Given the description of an element on the screen output the (x, y) to click on. 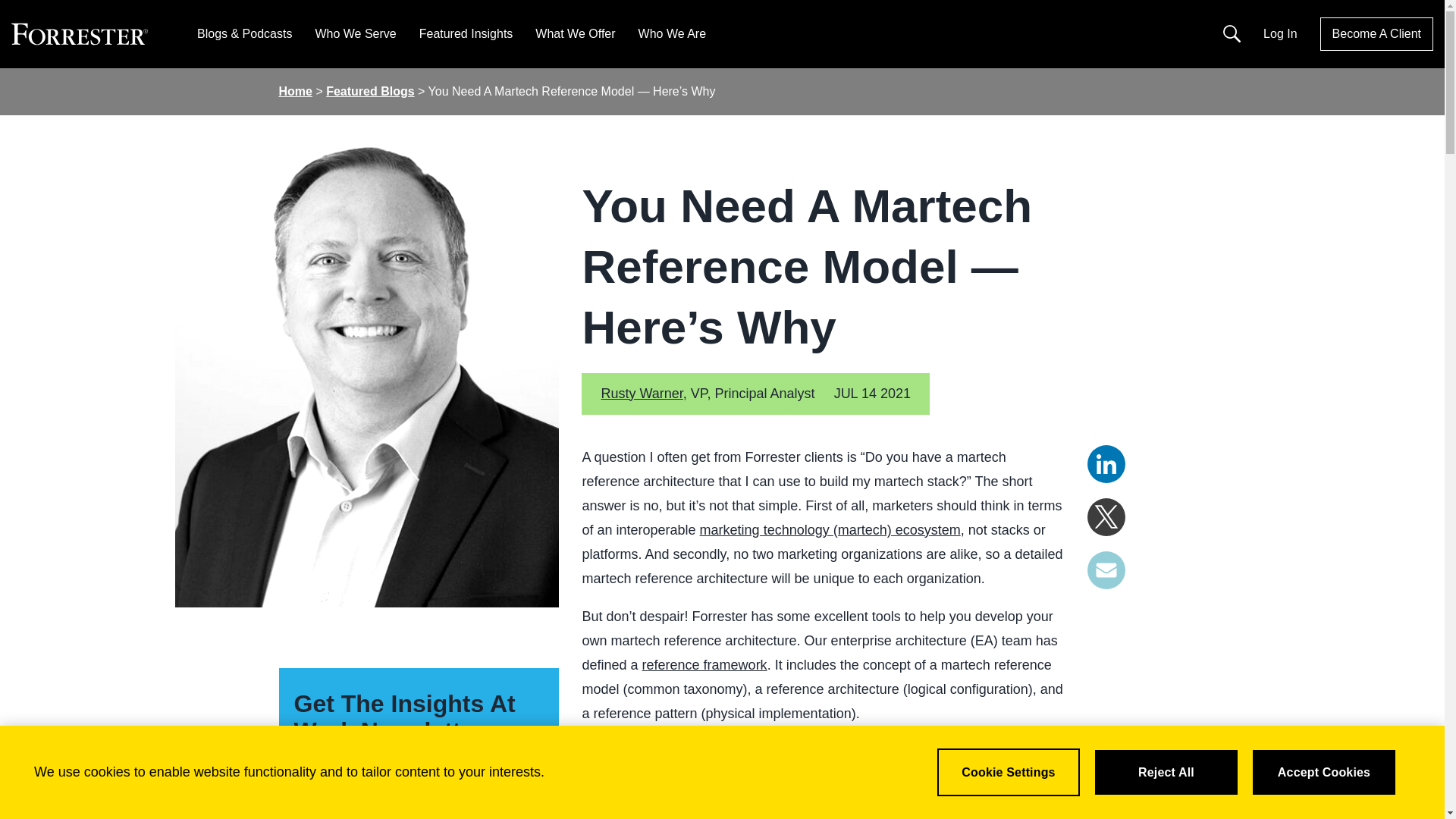
What We Offer (574, 33)
Posts by Rusty Warner (640, 392)
Featured Insights (466, 33)
Who We Serve (355, 33)
